Given the description of an element on the screen output the (x, y) to click on. 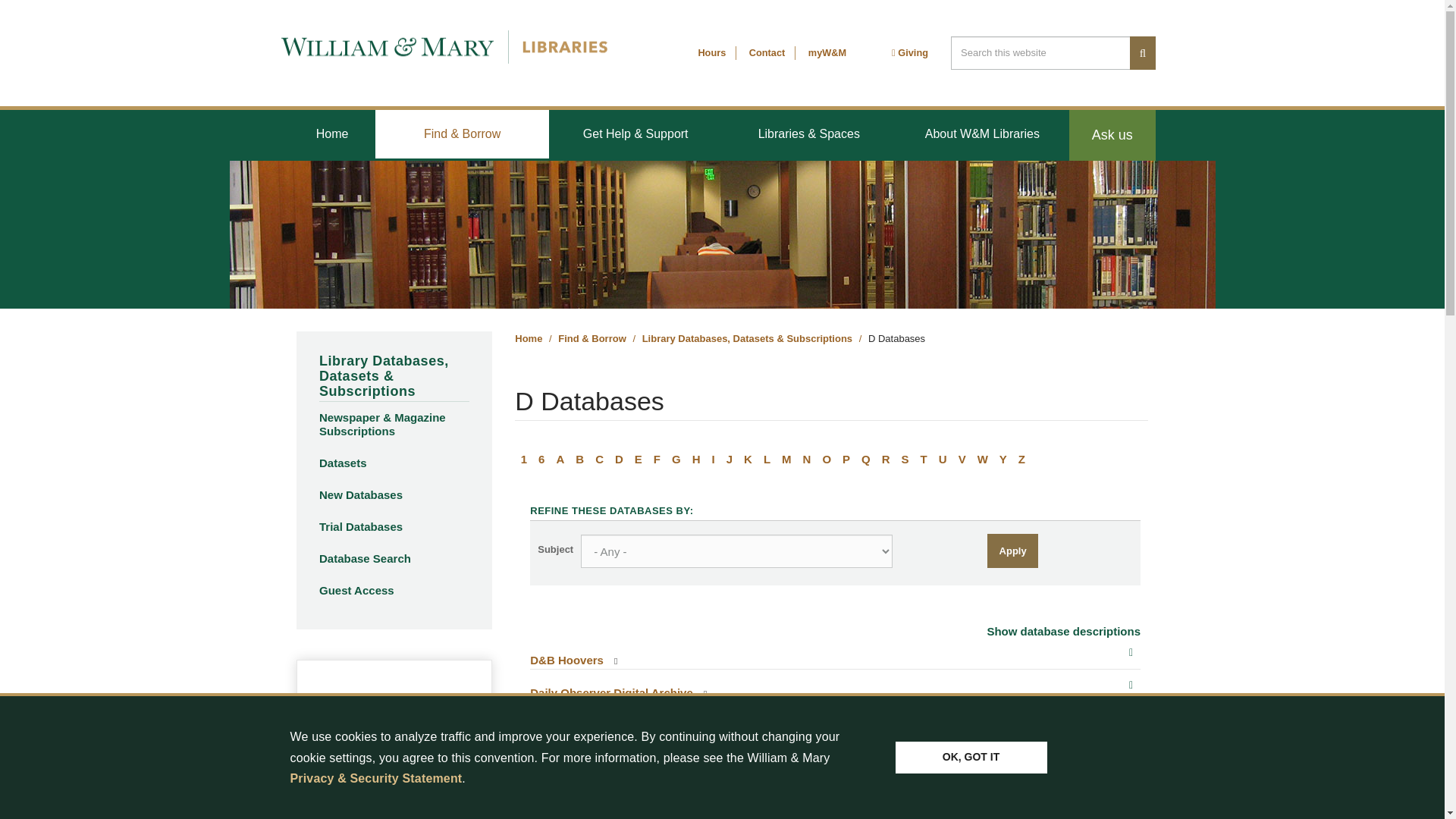
Contact (766, 52)
Giving (909, 52)
Home (331, 133)
Hours (711, 52)
Go to the myWM website (826, 52)
Enter the terms you wish to search for. (1040, 52)
